Given the description of an element on the screen output the (x, y) to click on. 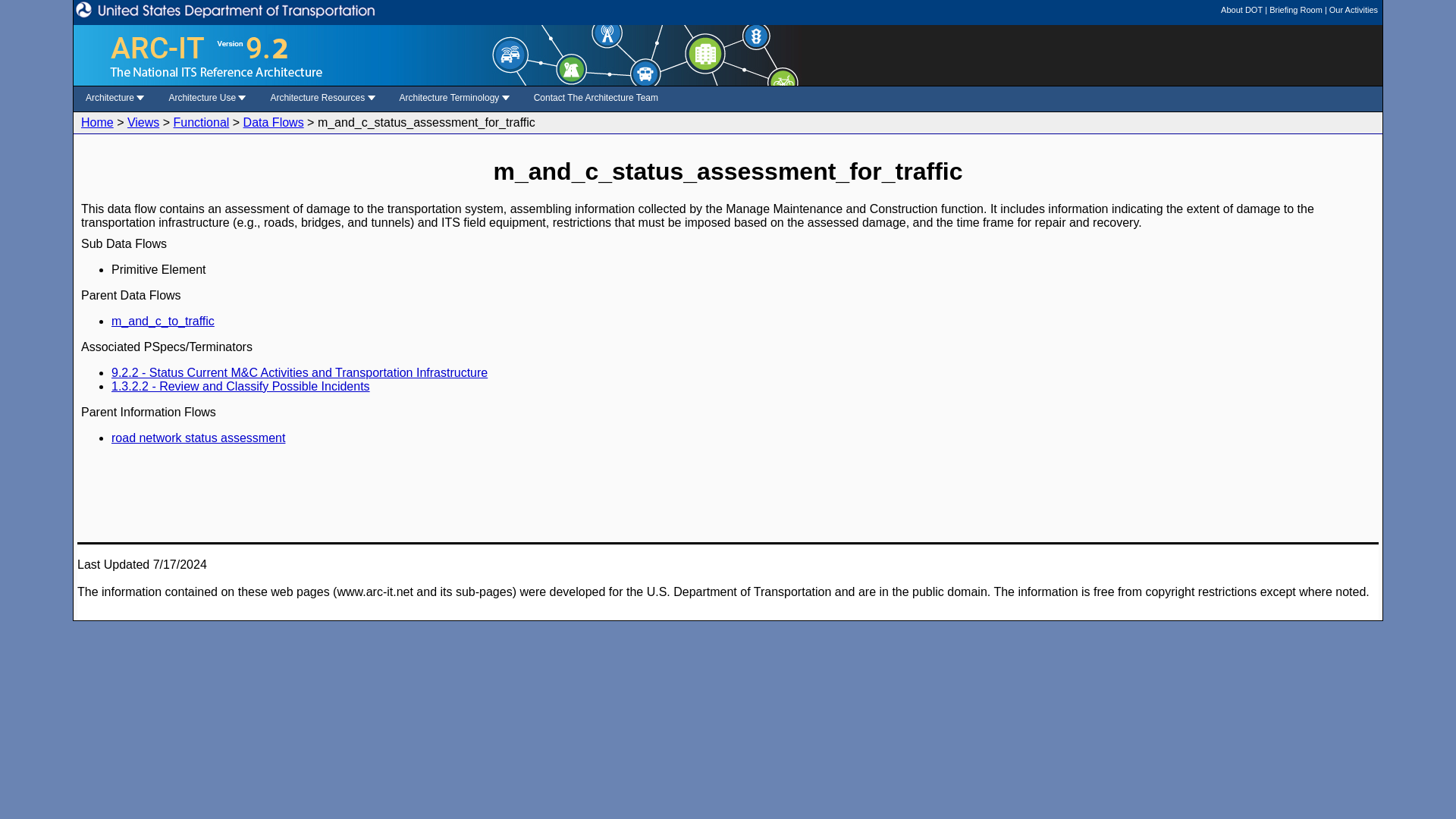
Architecture Use     (207, 97)
Home (97, 122)
Architecture Terminology     (453, 97)
Views (143, 122)
Contact The Architecture Team (596, 97)
Architecture     (114, 97)
Architecture Resources     (321, 97)
Our Activities (1353, 9)
About DOT (1241, 9)
Briefing Room (1295, 9)
